Given the description of an element on the screen output the (x, y) to click on. 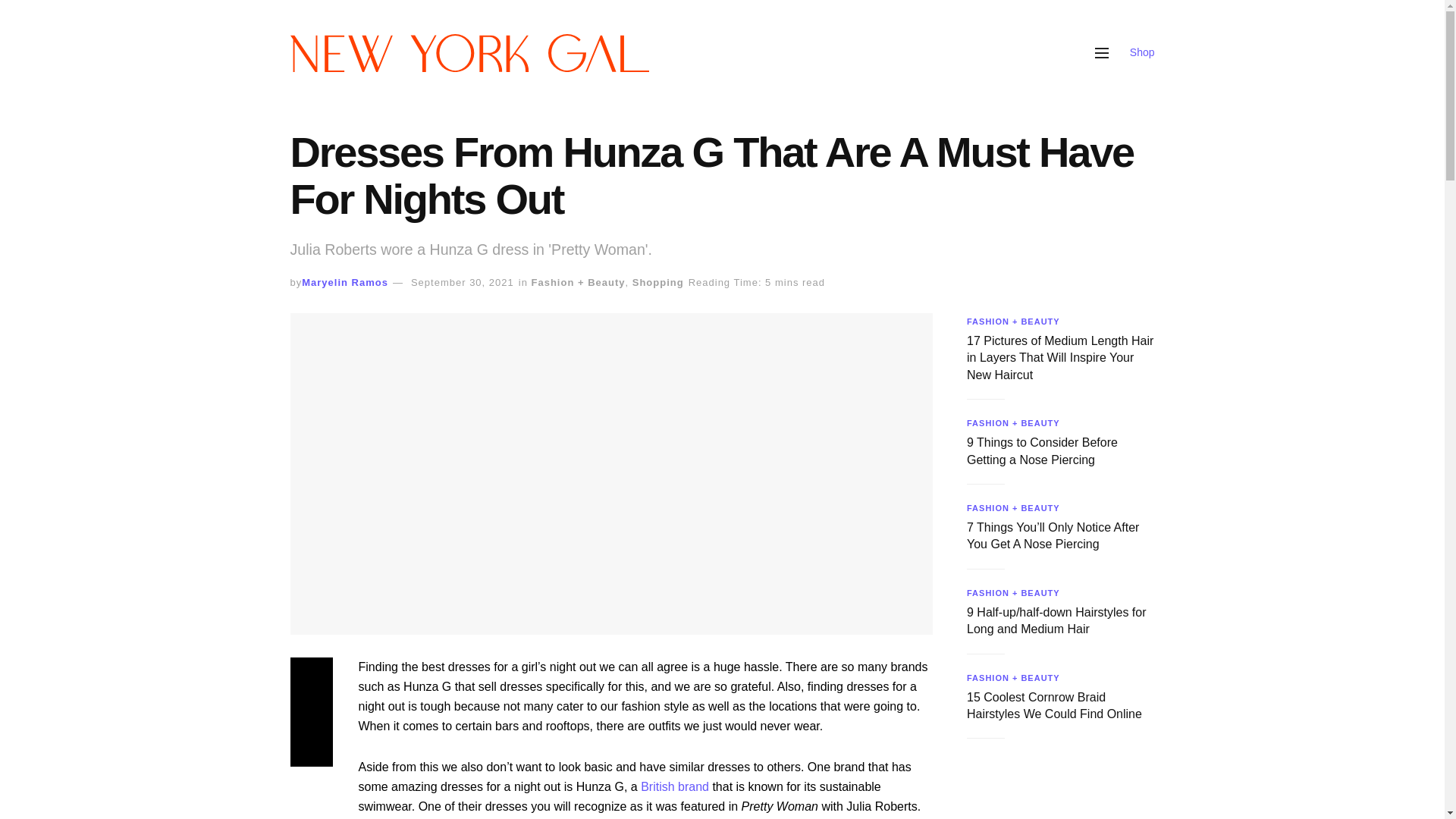
Shop (1141, 51)
British brand (673, 786)
September 30, 2021 (461, 282)
Maryelin Ramos (344, 282)
Shopping (657, 282)
